Given the description of an element on the screen output the (x, y) to click on. 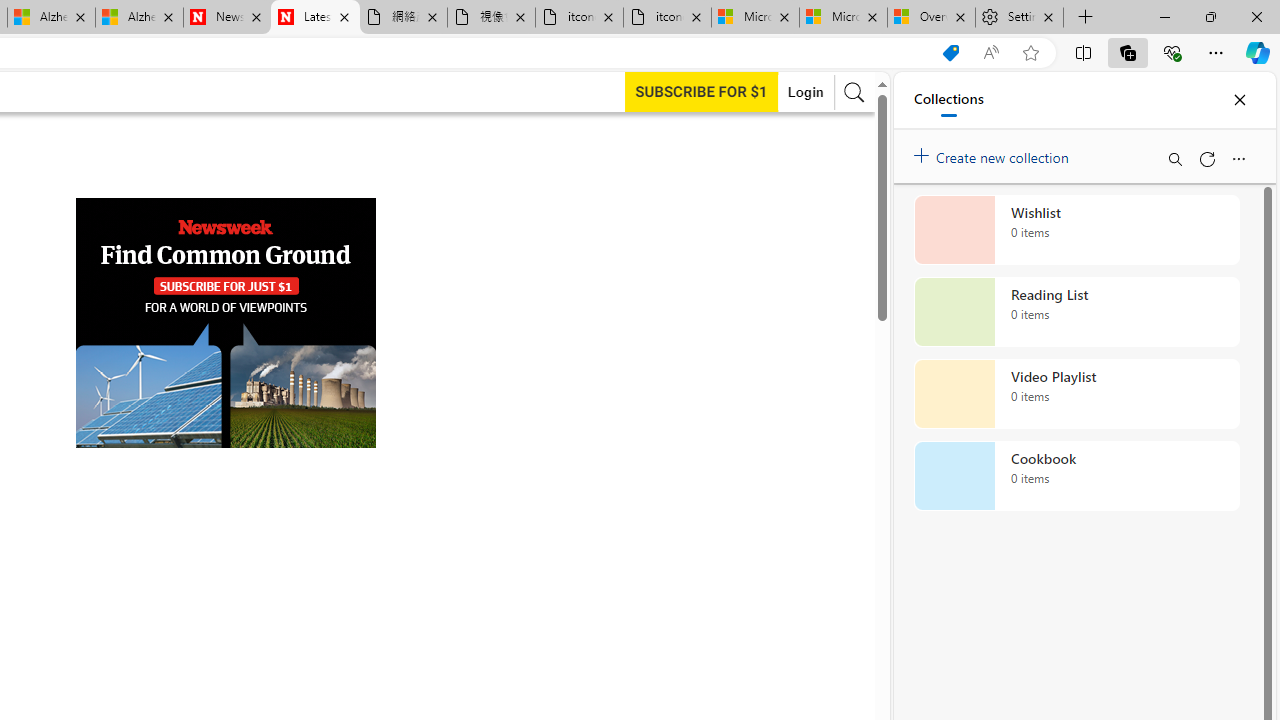
Overview (931, 17)
AutomationID: aw0 (226, 324)
Latest My Turn News & Archive | Newsweek.com (315, 17)
Create new collection (994, 153)
Video Playlist collection, 0 items (1076, 394)
Reading List collection, 0 items (1076, 312)
Wishlist collection, 0 items (1076, 229)
itconcepthk.com/projector_solutions.mp4 (666, 17)
